Given the description of an element on the screen output the (x, y) to click on. 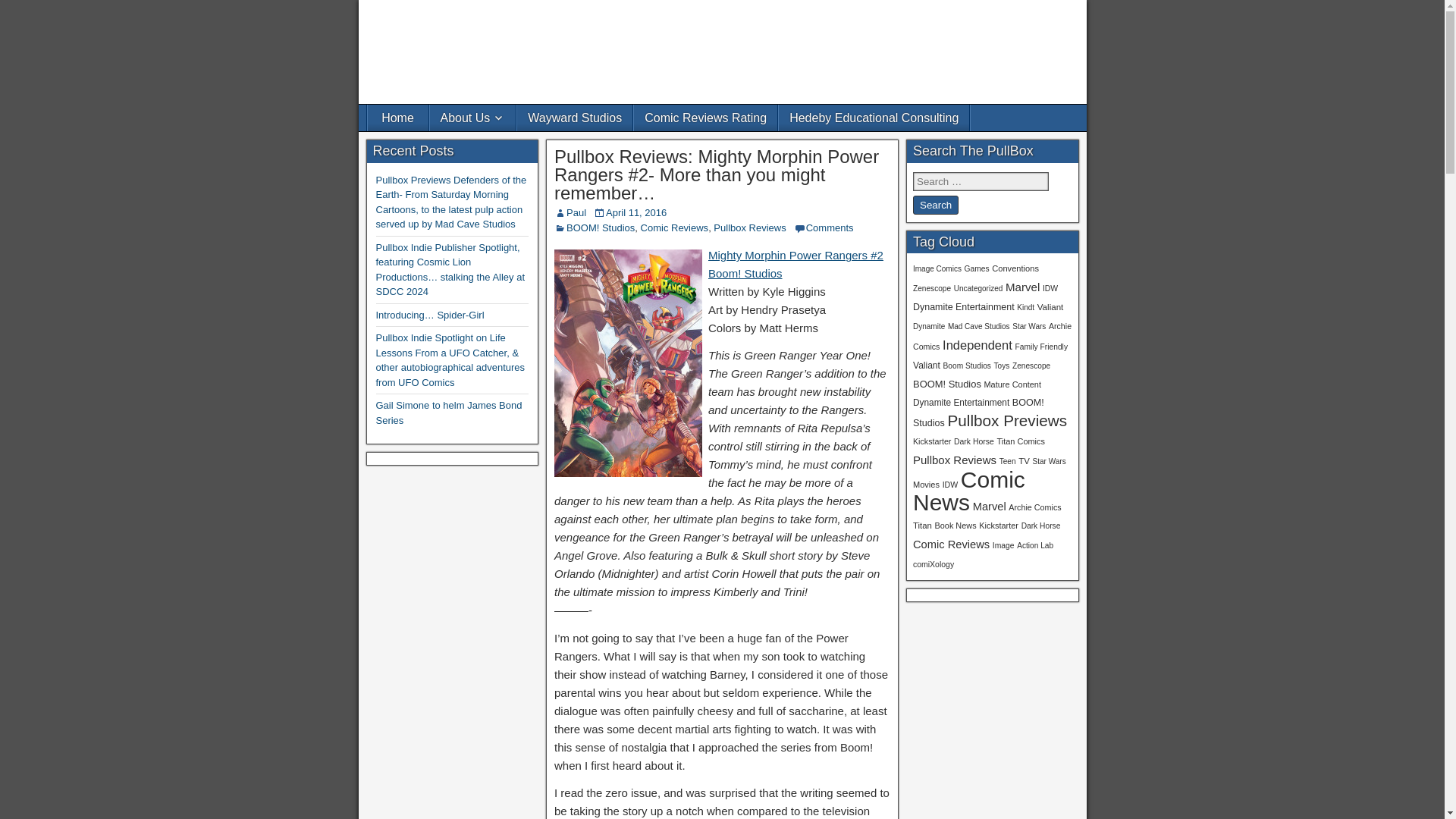
Search (935, 204)
Paul (576, 212)
Comic Reviews Rating (705, 117)
April 11, 2016 (635, 212)
Wayward Studios (573, 117)
Pullbox Reviews (749, 227)
Home (397, 117)
Hedeby Educational Consulting (873, 117)
About Us (472, 117)
Search (935, 204)
Boom! Studios (745, 273)
Comments (829, 227)
Comic Reviews (674, 227)
Gail Simone to helm James Bond Series (448, 412)
